Given the description of an element on the screen output the (x, y) to click on. 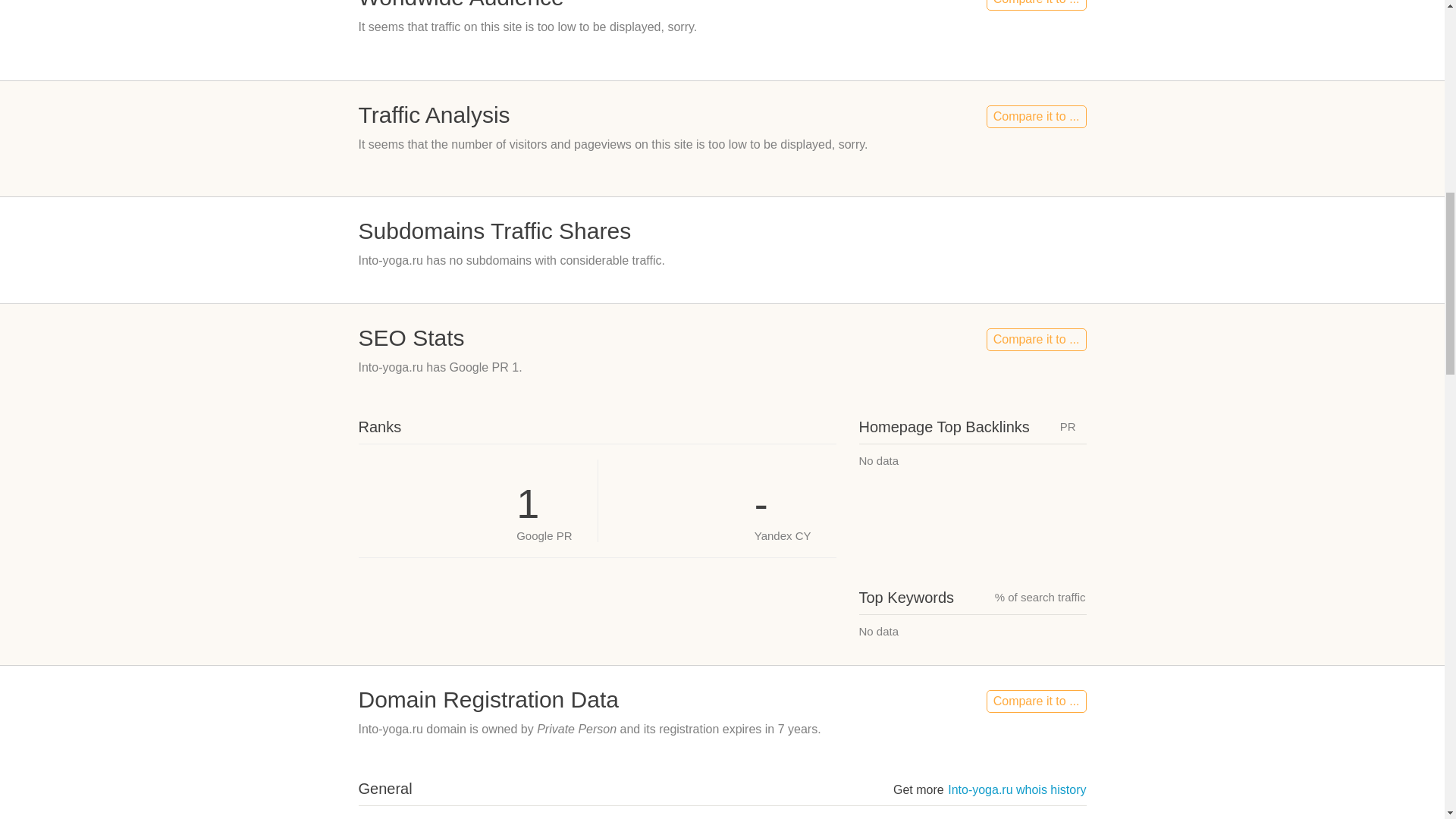
Compare it to ... (1036, 701)
Compare it to ... (1036, 5)
Compare it to ... (1036, 339)
Into-yoga.ru whois history (1016, 789)
Compare it to ... (1036, 116)
